Given the description of an element on the screen output the (x, y) to click on. 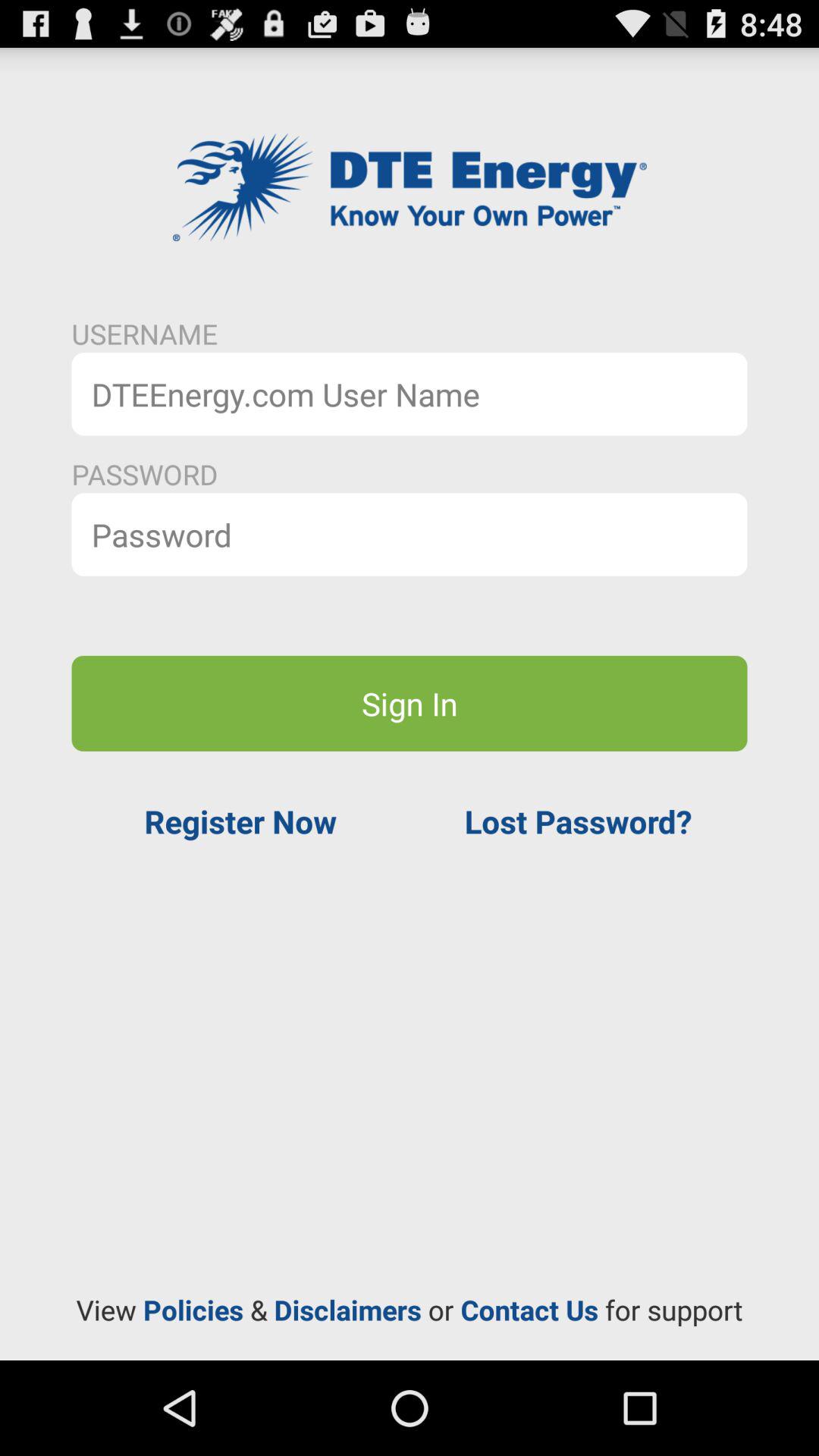
flip to lost password? item (578, 820)
